Given the description of an element on the screen output the (x, y) to click on. 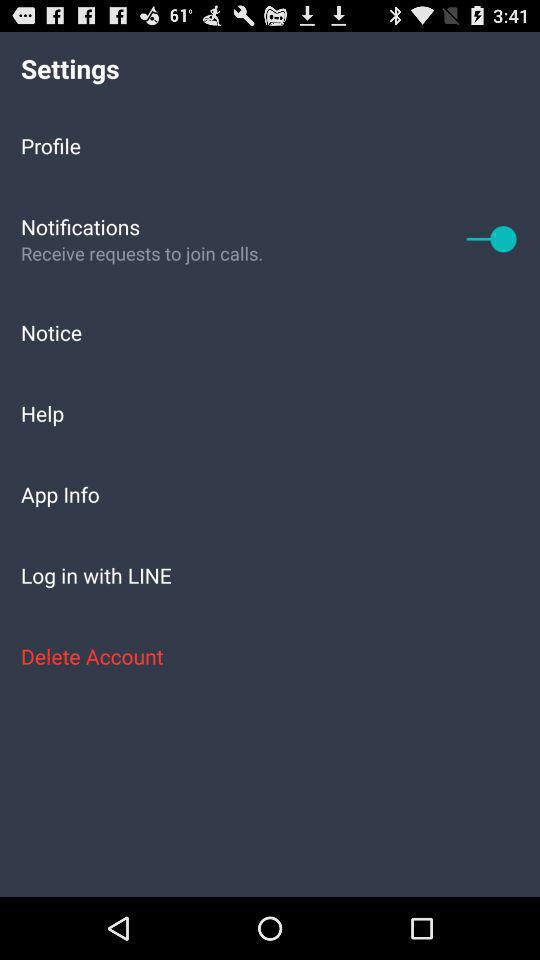
choose the log in with item (270, 574)
